Given the description of an element on the screen output the (x, y) to click on. 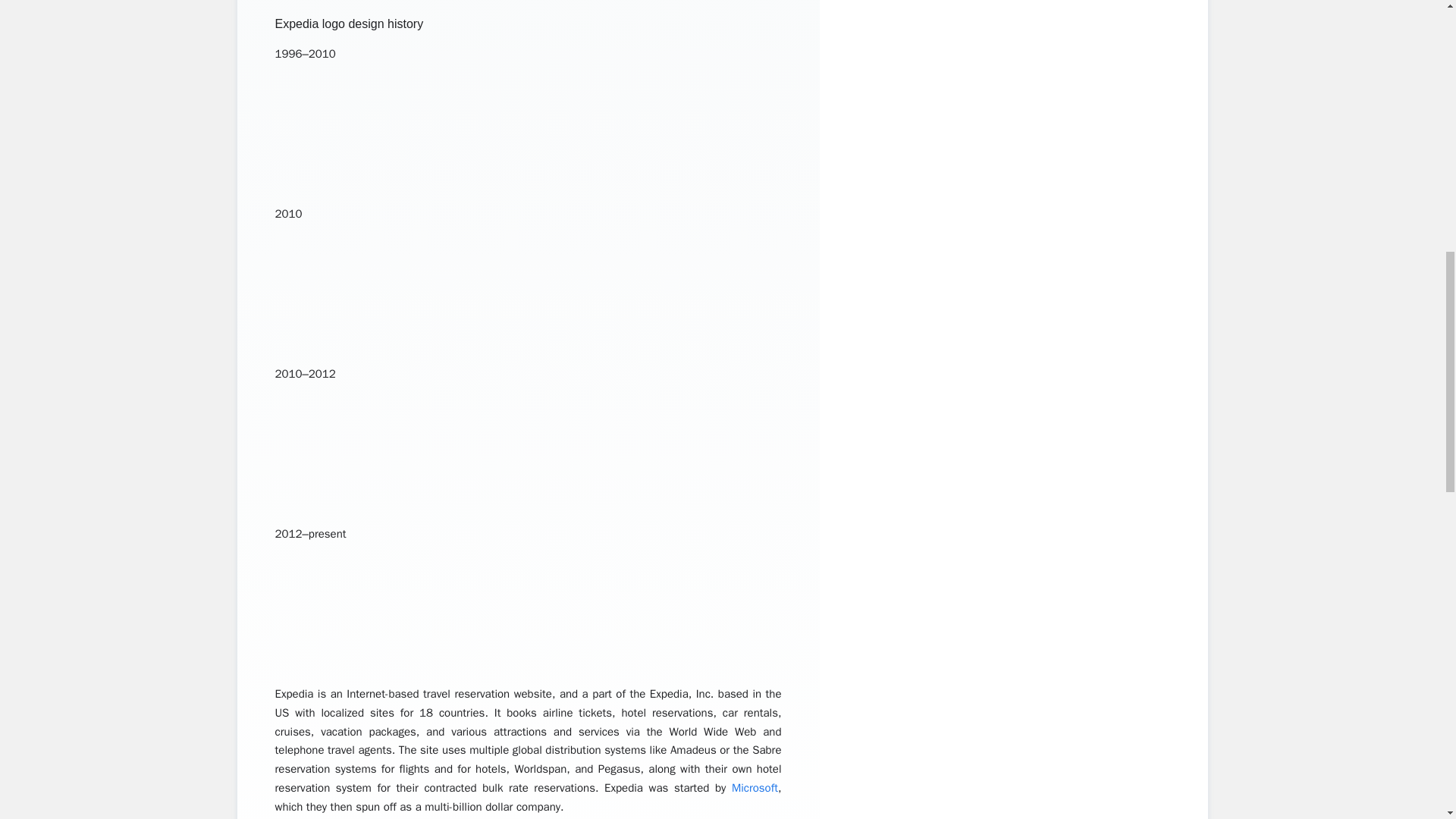
Microsoft logo vector (754, 787)
